Given the description of an element on the screen output the (x, y) to click on. 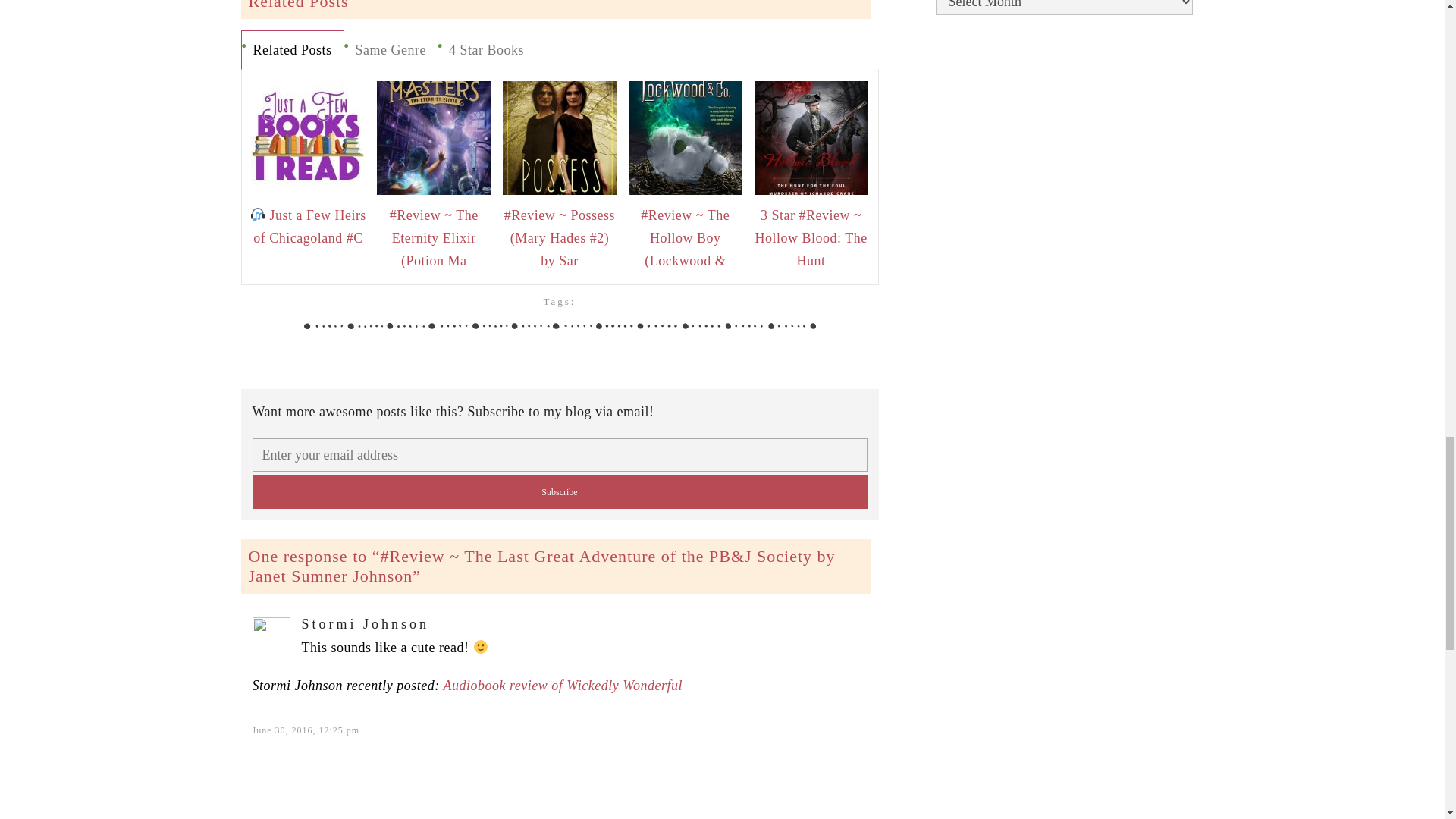
Subscribe (558, 491)
Related Posts (291, 49)
4 Star Books (486, 49)
Same Genre (390, 49)
